Given the description of an element on the screen output the (x, y) to click on. 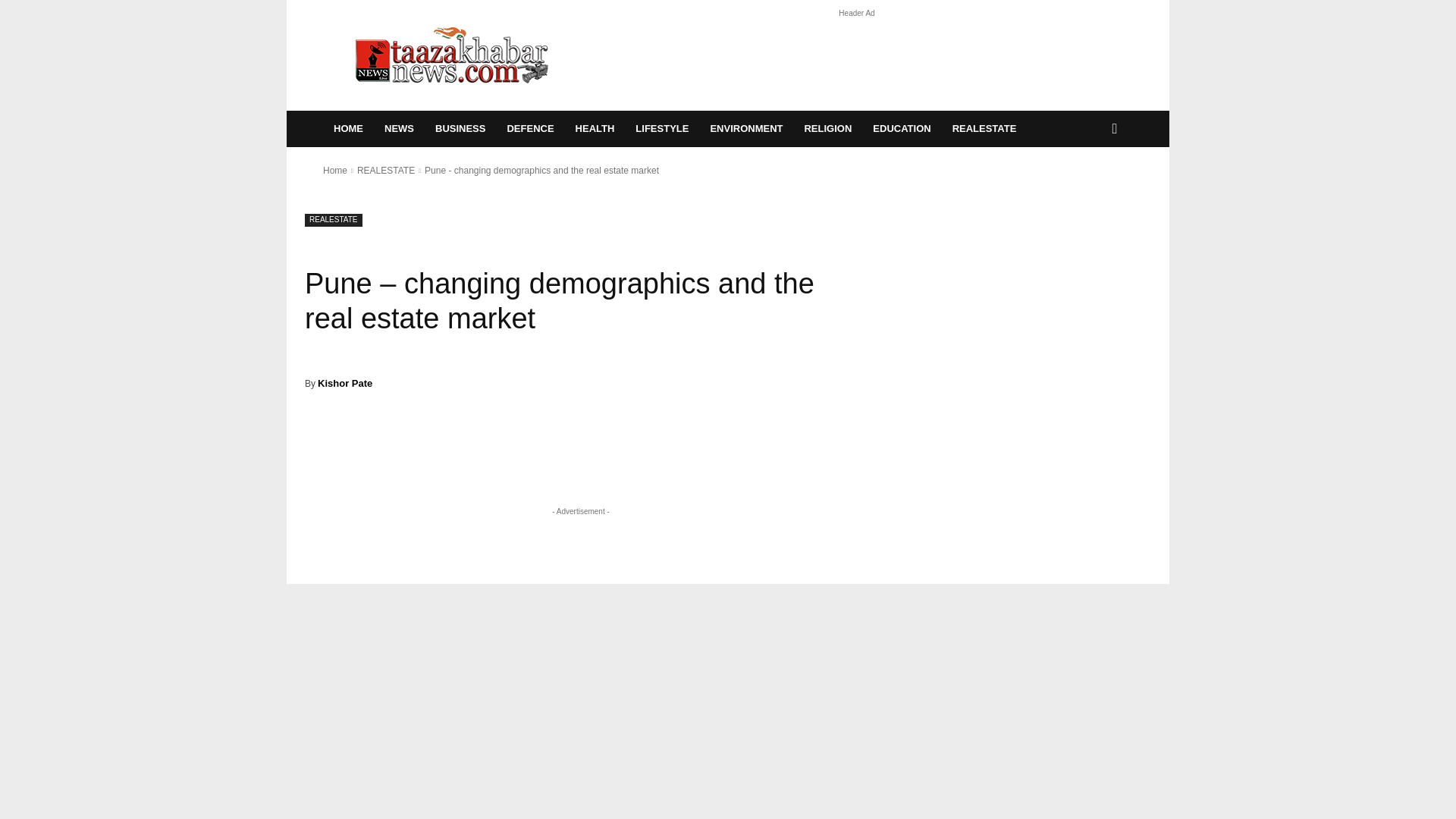
NEWS (399, 128)
TaazaKhabar News (451, 55)
HOME (348, 128)
View all posts in REALESTATE (385, 170)
